Given the description of an element on the screen output the (x, y) to click on. 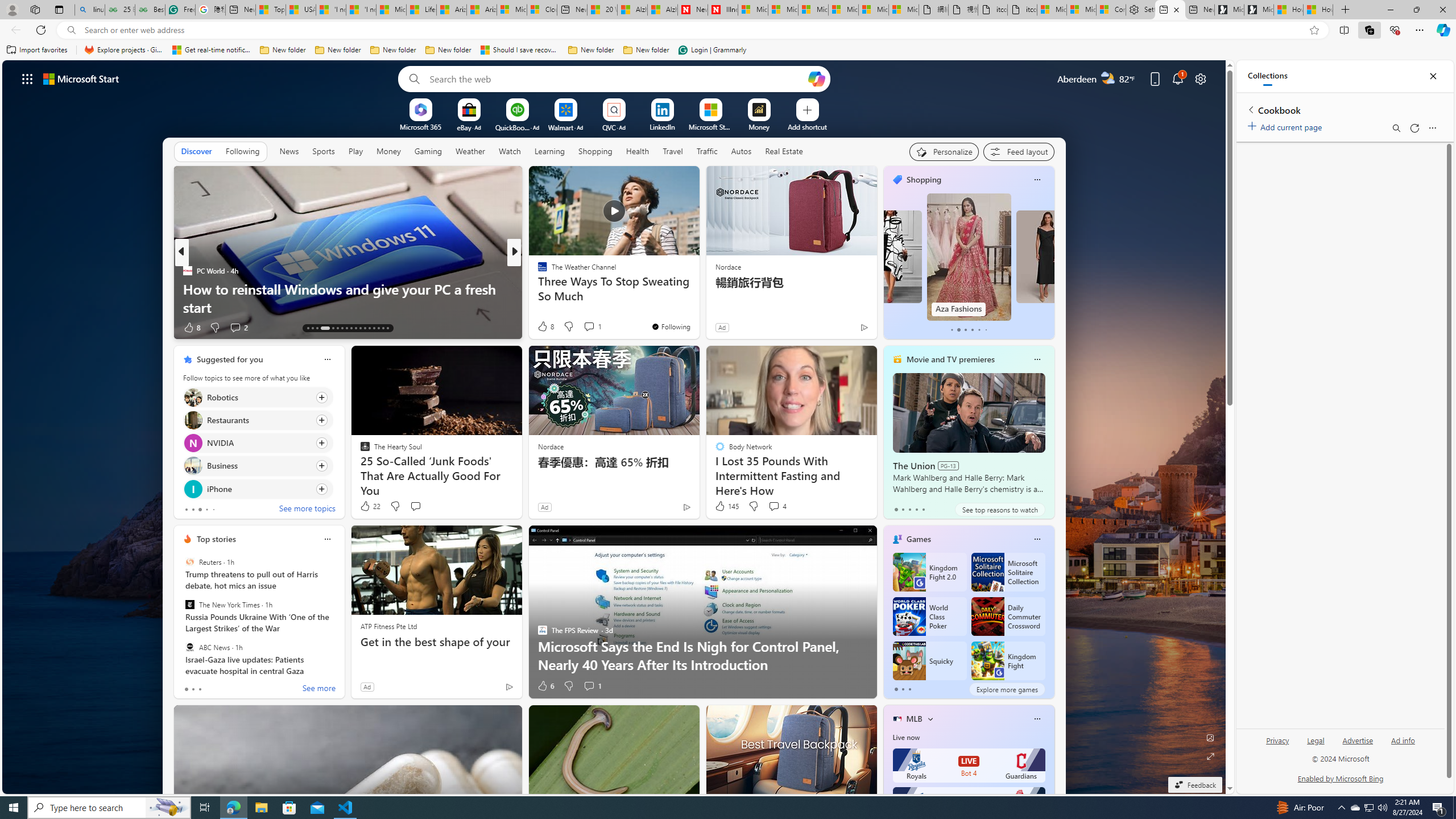
Shopping (595, 151)
AutomationID: tab-24 (364, 328)
Edit Background (1210, 737)
40 Like (543, 327)
AutomationID: tab-14 (312, 328)
Ad info (1402, 740)
View comments 2 Comment (237, 327)
Import favorites (36, 49)
View comments 65 Comment (594, 327)
Partly cloudy (1107, 78)
Legal (1315, 745)
AutomationID: tab-23 (360, 328)
